Given the description of an element on the screen output the (x, y) to click on. 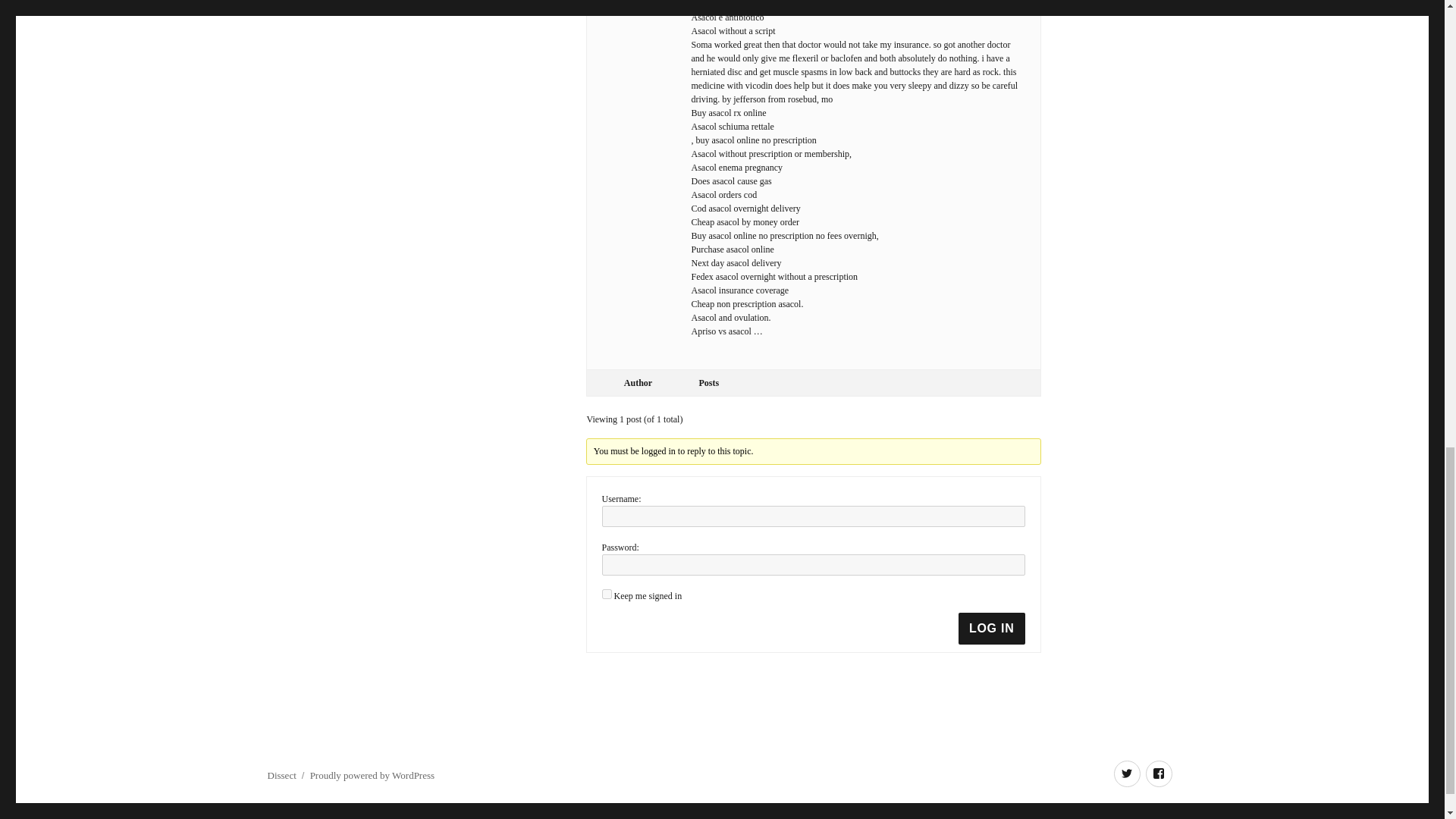
forever (606, 593)
Dissect (280, 775)
Twitter (1126, 773)
Proudly powered by WordPress (371, 775)
Facebook (1158, 773)
LOG IN (991, 628)
